Given the description of an element on the screen output the (x, y) to click on. 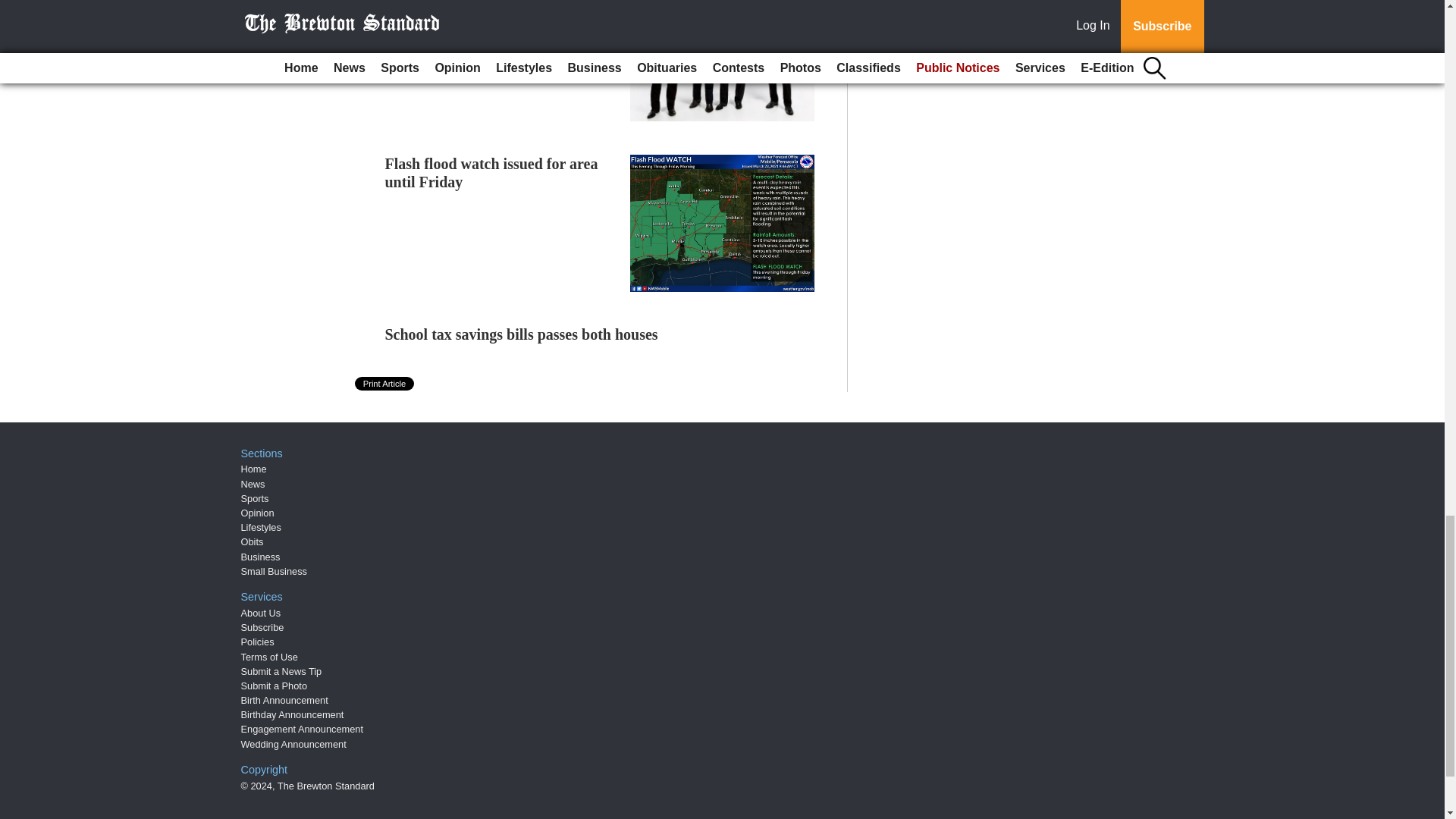
Home (253, 469)
The Oak Ridge Boys to perform Sunday in Opp (488, 4)
Flash flood watch issued for area until Friday (491, 172)
Print Article (384, 383)
The Oak Ridge Boys to perform Sunday in Opp (488, 4)
Flash flood watch issued for area until Friday (491, 172)
School tax savings bills passes both houses (521, 334)
School tax savings bills passes both houses (521, 334)
